Given the description of an element on the screen output the (x, y) to click on. 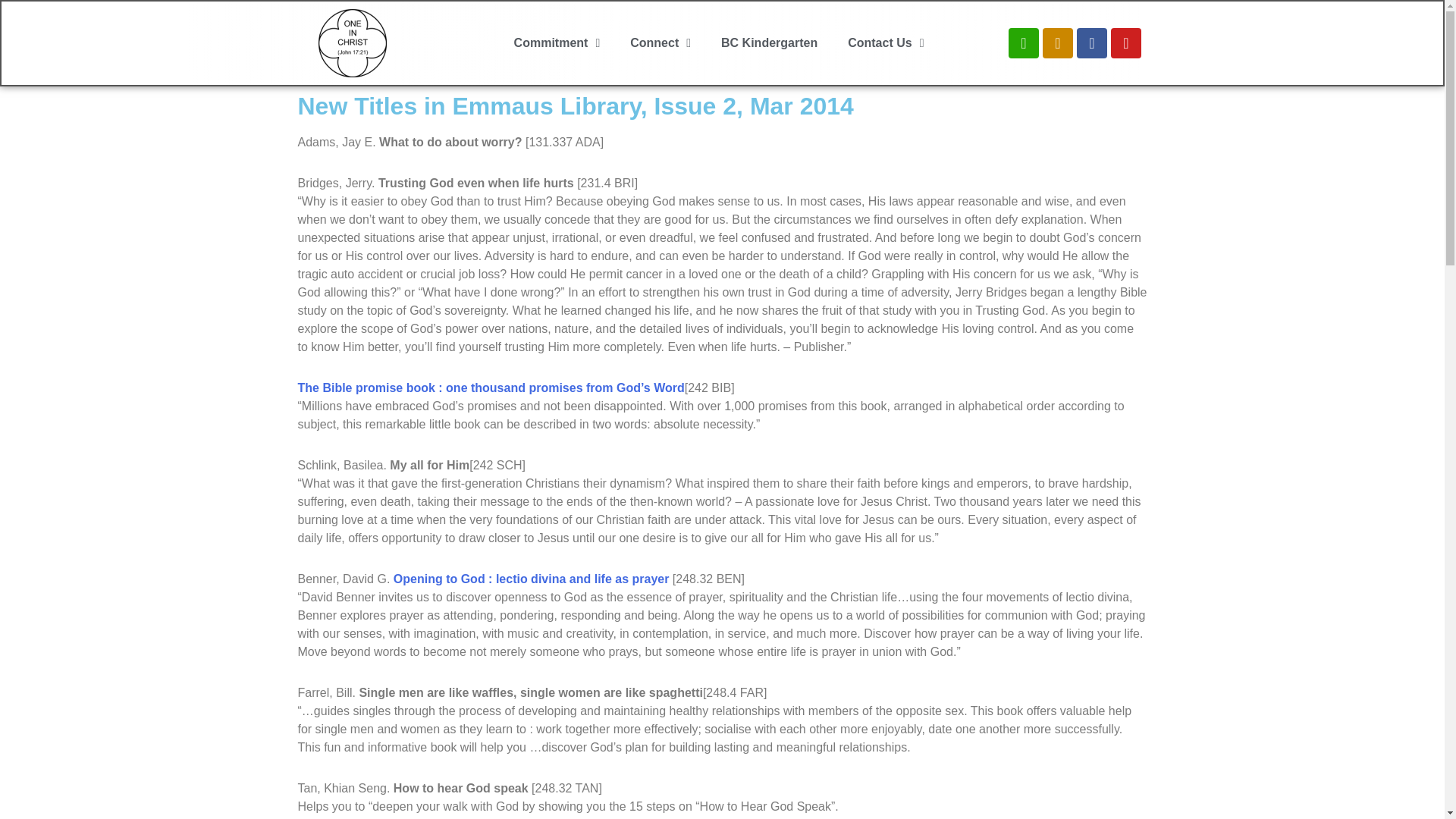
Connect (660, 2)
BC Kindergarten (769, 40)
Contact Us (885, 41)
logo (352, 42)
